Given the description of an element on the screen output the (x, y) to click on. 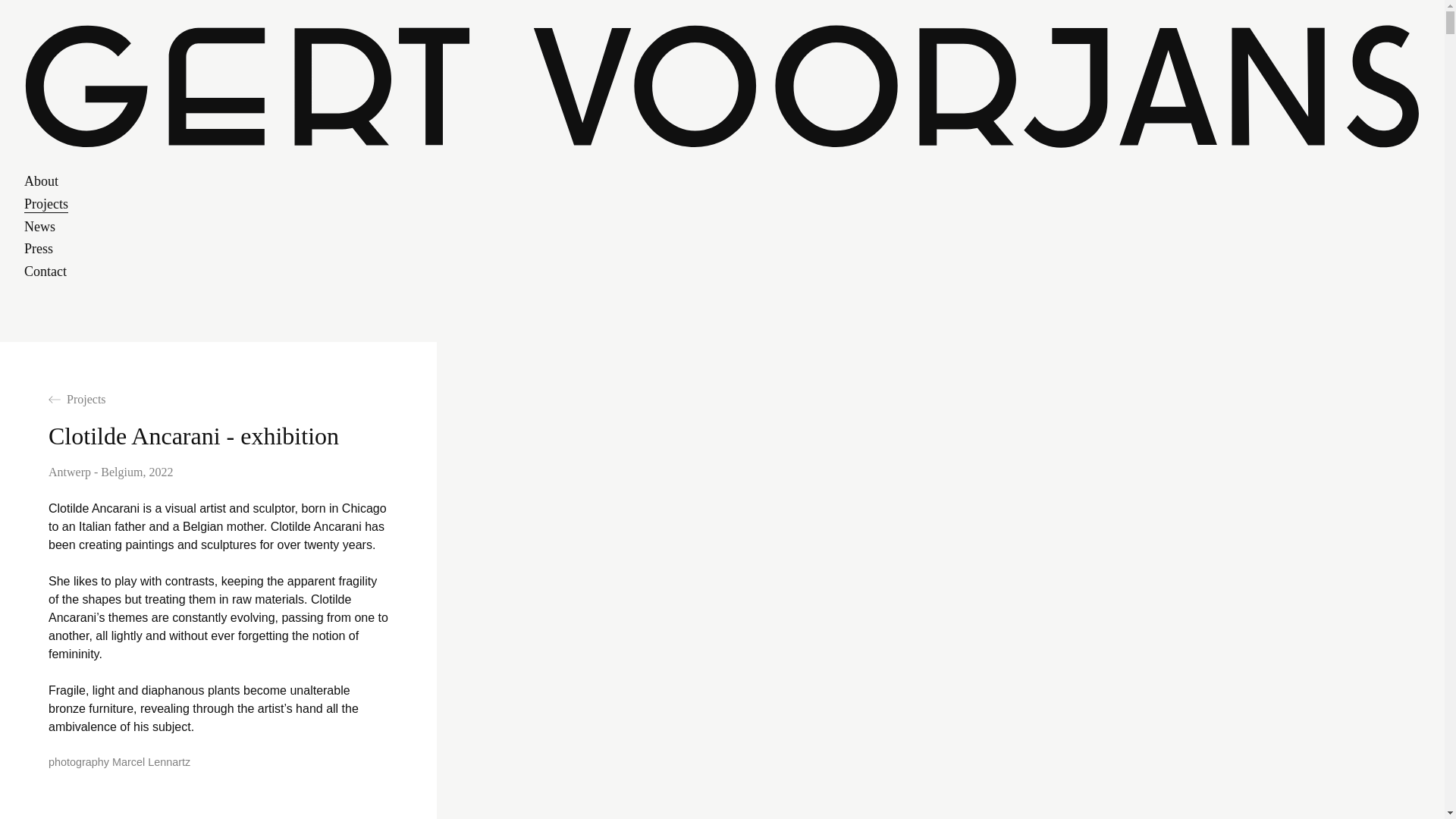
About (41, 181)
News (39, 226)
Contact (45, 271)
Projects (46, 203)
Projects (77, 399)
Press (38, 248)
